Given the description of an element on the screen output the (x, y) to click on. 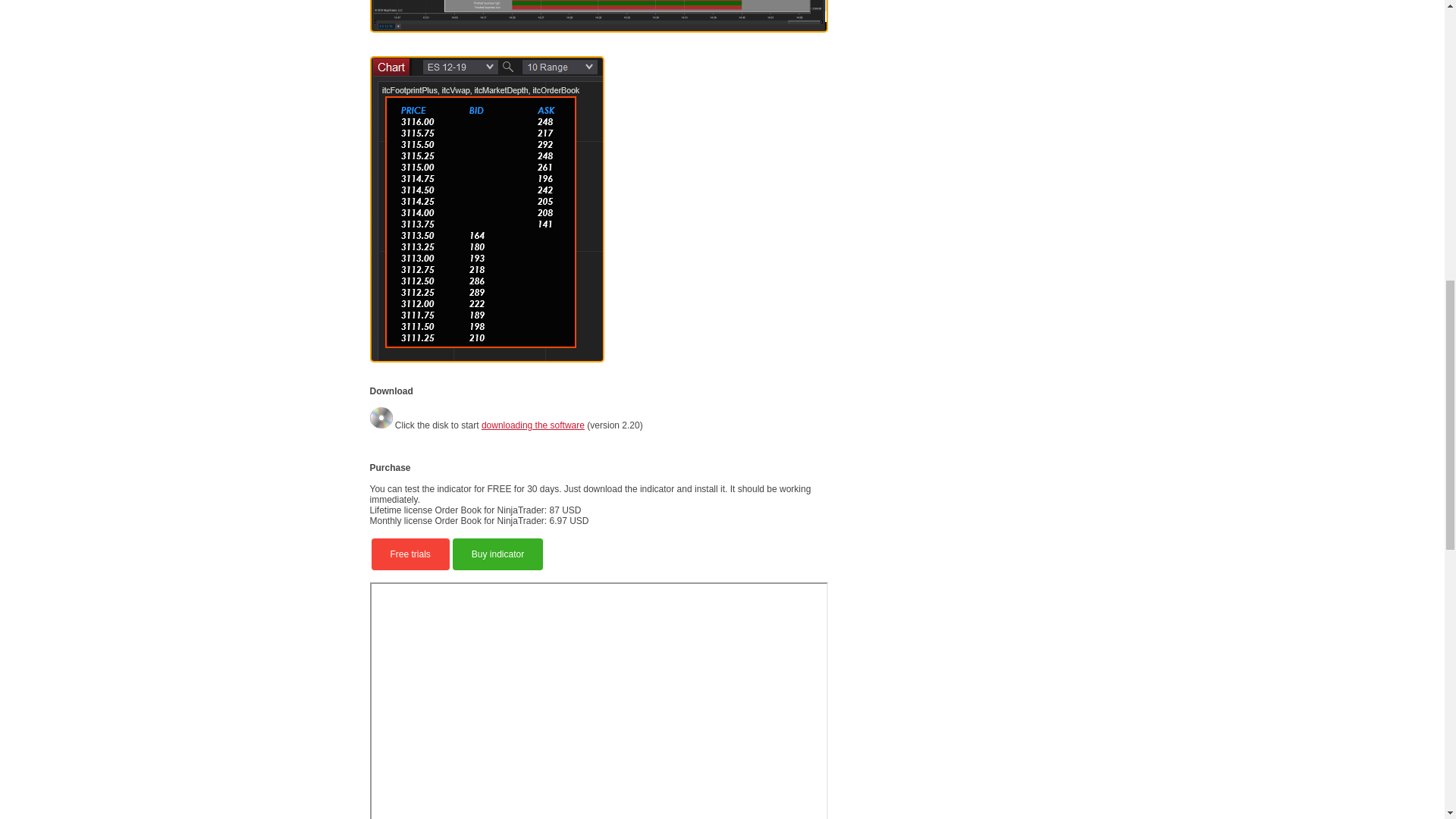
downloading the software (533, 425)
Free trials (410, 554)
Buy indicator (497, 554)
